Given the description of an element on the screen output the (x, y) to click on. 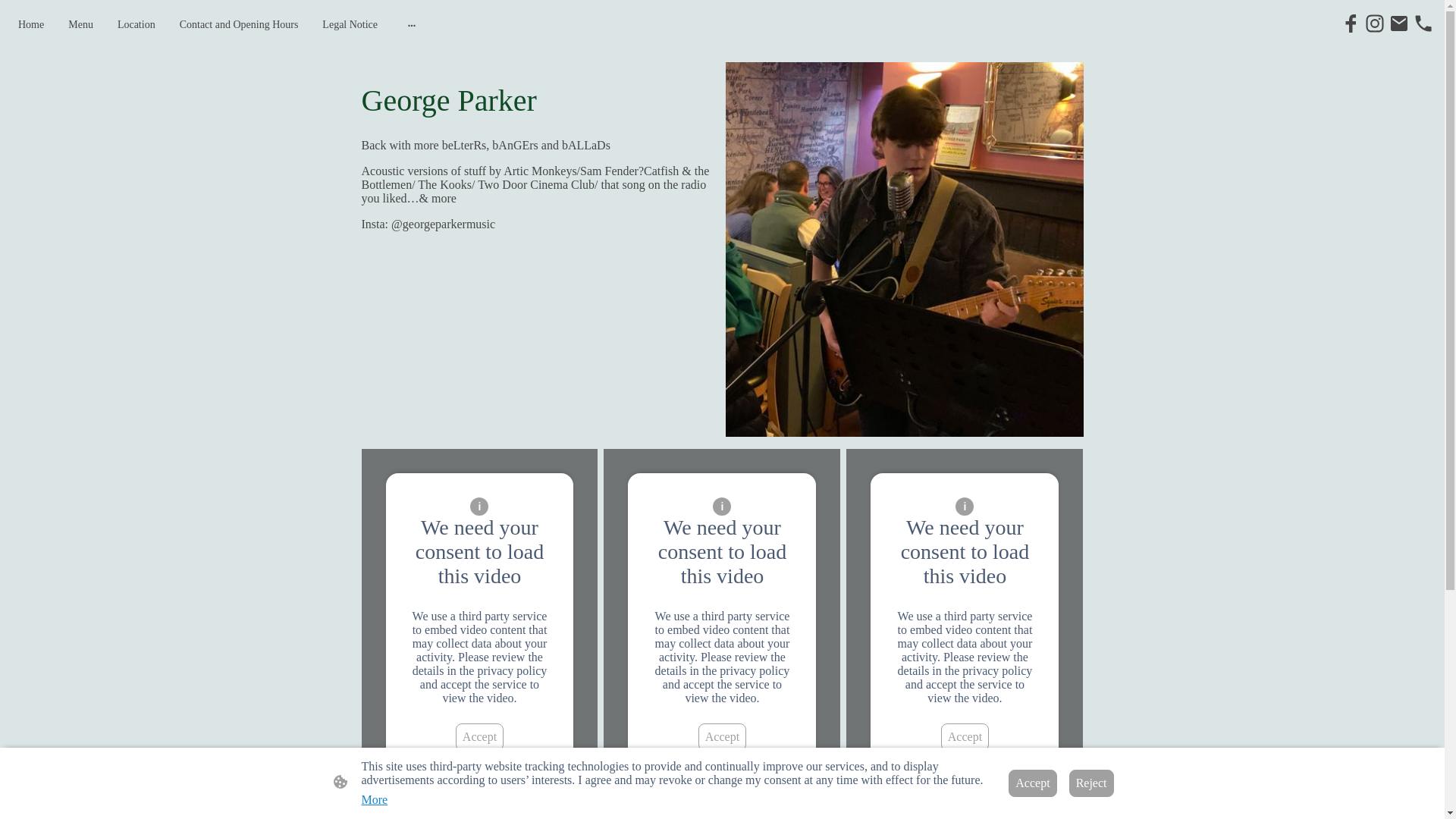
Legal Notice (349, 24)
Accept (479, 737)
Accept (721, 737)
Home (30, 24)
Location (136, 24)
Accept (964, 737)
Menu (80, 24)
Contact and Opening Hours (238, 24)
